Given the description of an element on the screen output the (x, y) to click on. 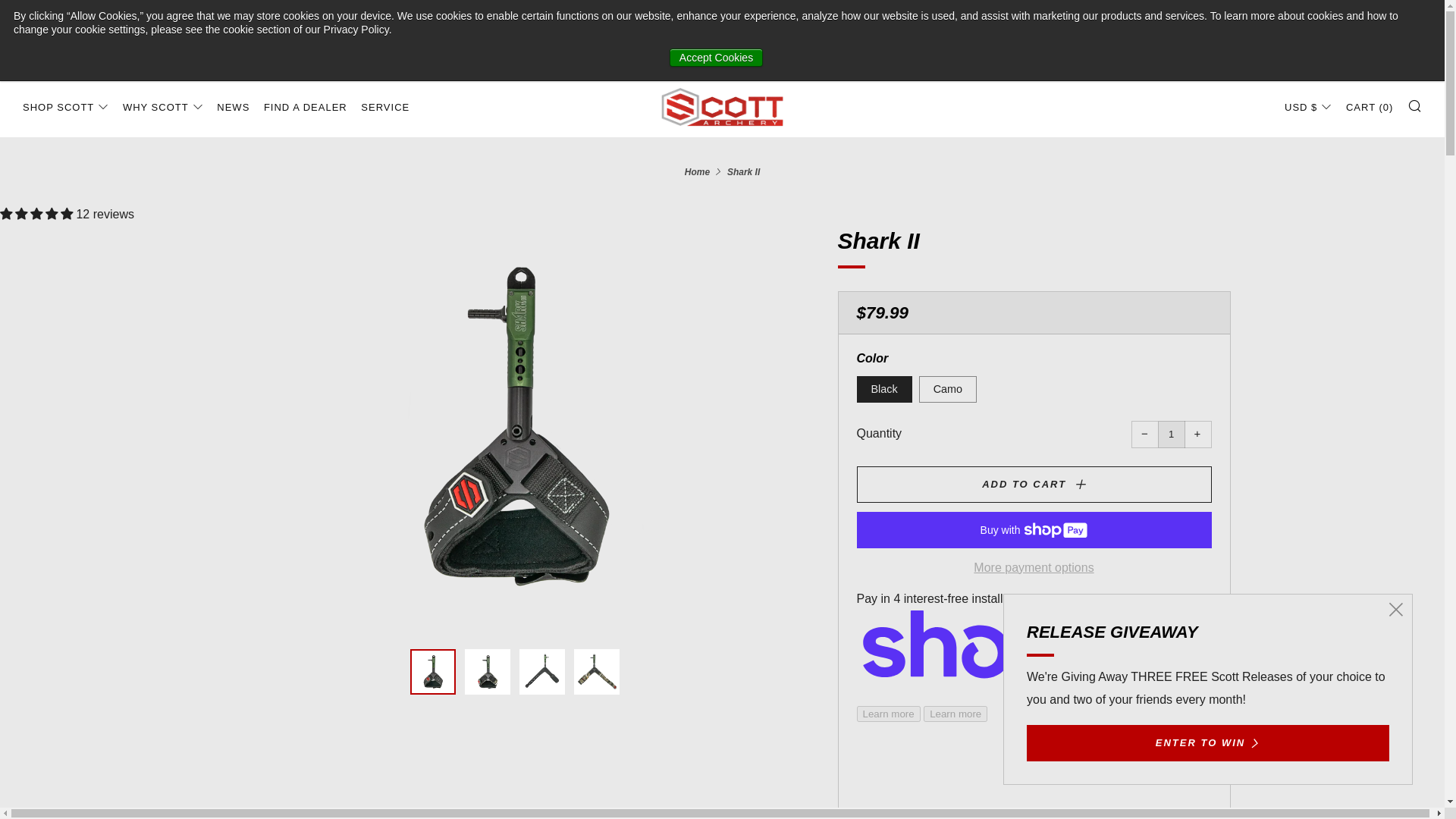
Home (697, 172)
Form 0 (1033, 780)
1 (1171, 433)
Accept Cookies (715, 57)
